Given the description of an element on the screen output the (x, y) to click on. 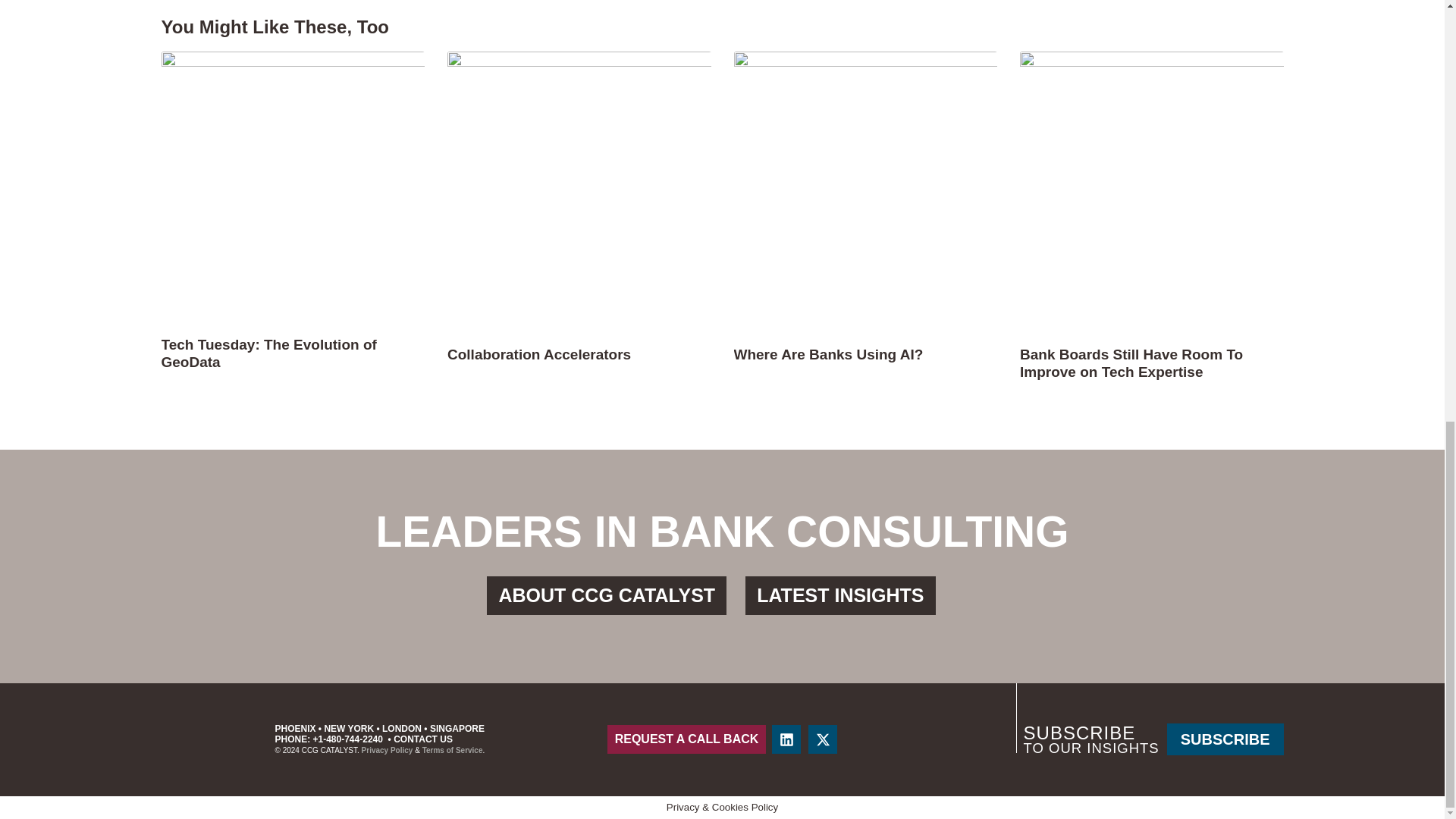
CONTACT US (422, 738)
Where Are Banks Using AI? (828, 354)
ABOUT CCG CATALYST (606, 595)
Tech Tuesday: The Evolution of GeoData (267, 353)
Collaboration Accelerators (538, 354)
REQUEST A CALL BACK (687, 738)
Privacy Policy (387, 750)
SUBSCRIBE (1225, 739)
Bank Boards Still Have Room To Improve on Tech Expertise (1131, 363)
LATEST INSIGHTS (839, 595)
Terms of Service (452, 750)
